Given the description of an element on the screen output the (x, y) to click on. 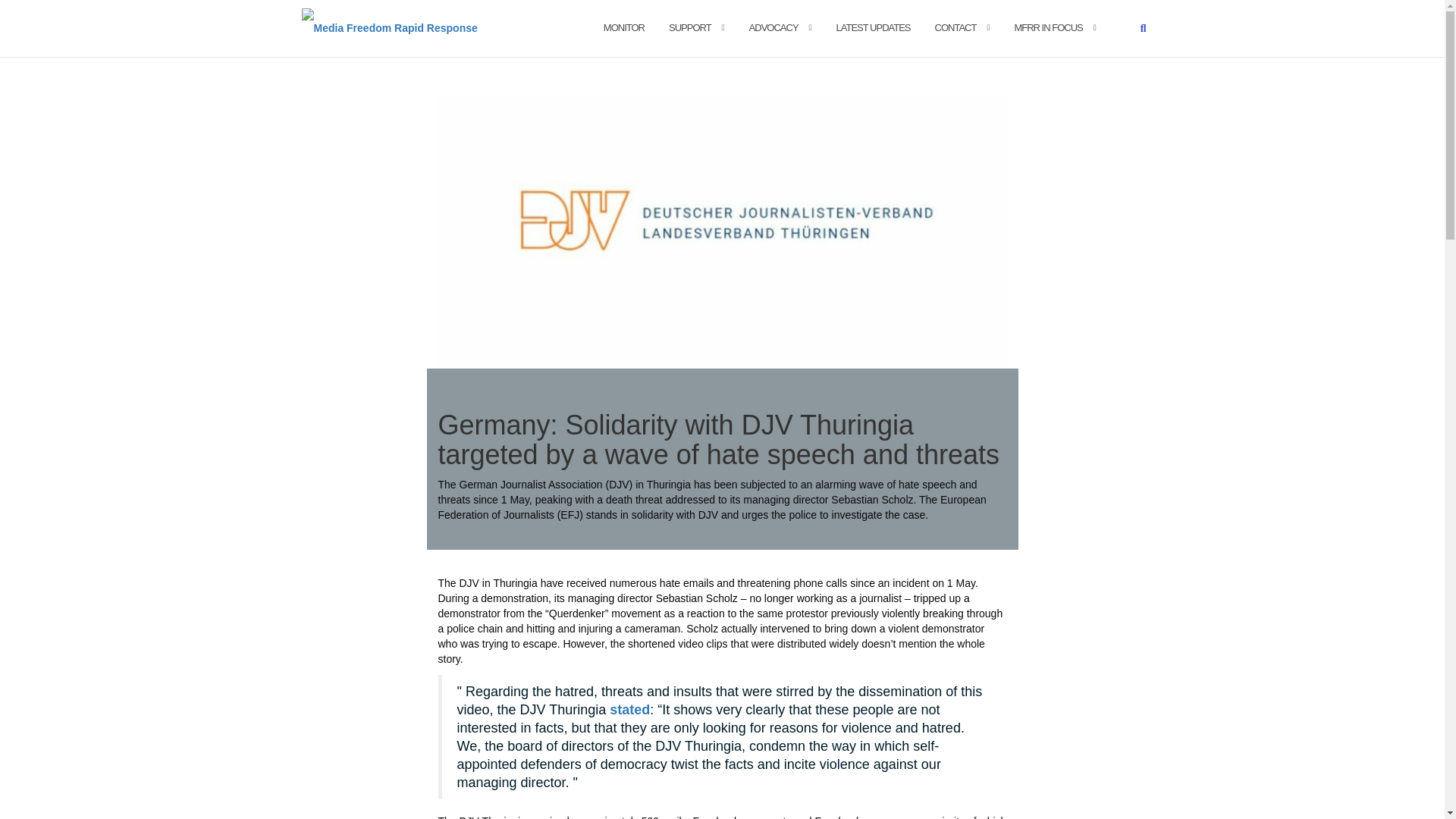
MONITOR (624, 28)
Monitor (624, 28)
SUPPORT (689, 28)
MFRR IN FOCUS (1047, 28)
Contact (955, 28)
stated (629, 709)
Support (689, 28)
MFRR in Focus (1047, 28)
ADVOCACY (773, 28)
LATEST UPDATES (873, 28)
LATEST UPDATES (873, 28)
CONTACT (955, 28)
Advocacy (773, 28)
